Given the description of an element on the screen output the (x, y) to click on. 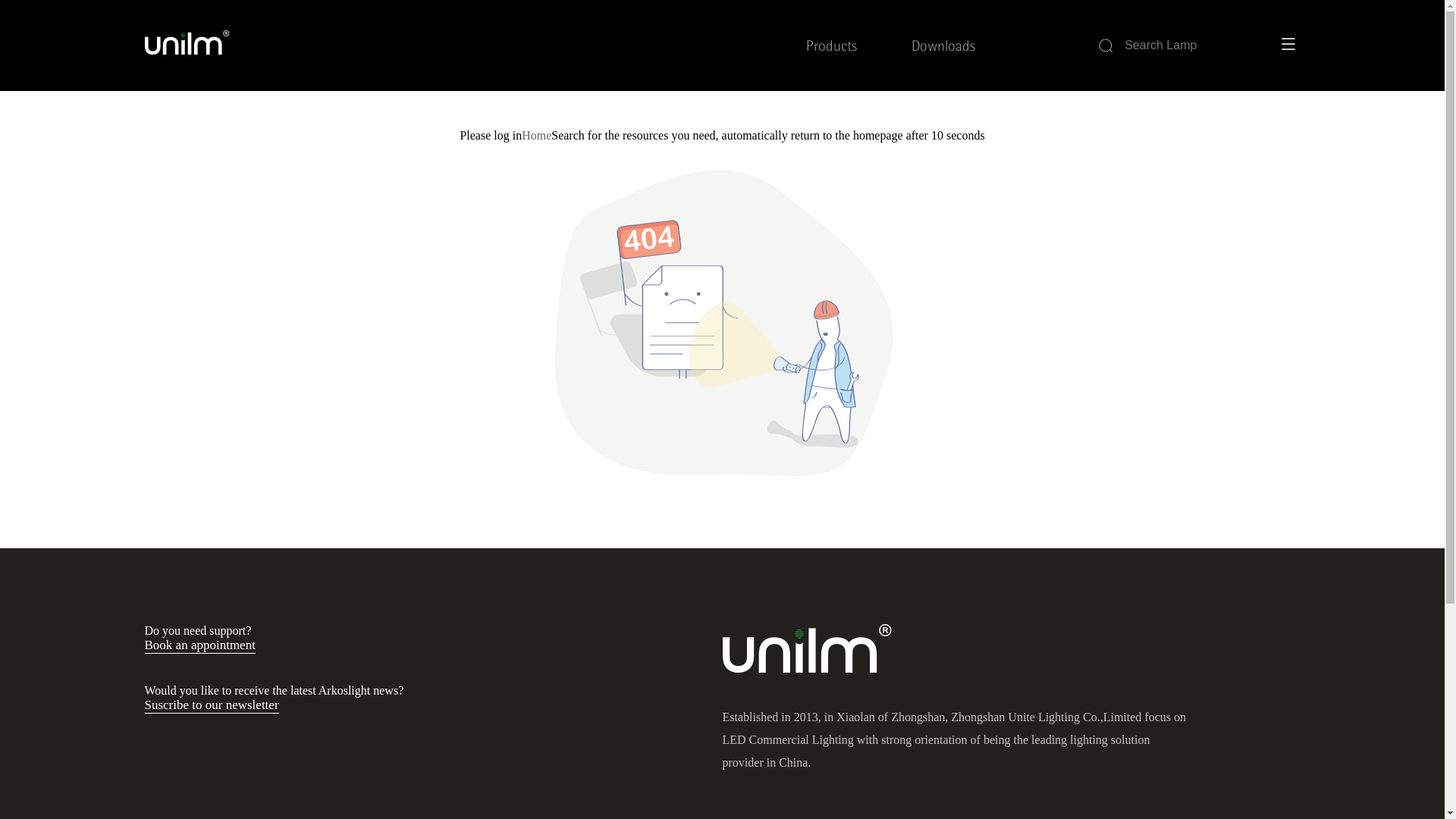
Products Element type: text (831, 44)
Do you need support? Element type: text (197, 630)
Would you like to receive the latest Arkoslight news? Element type: text (273, 690)
Home Element type: text (536, 134)
Downloads Element type: text (943, 44)
